Given the description of an element on the screen output the (x, y) to click on. 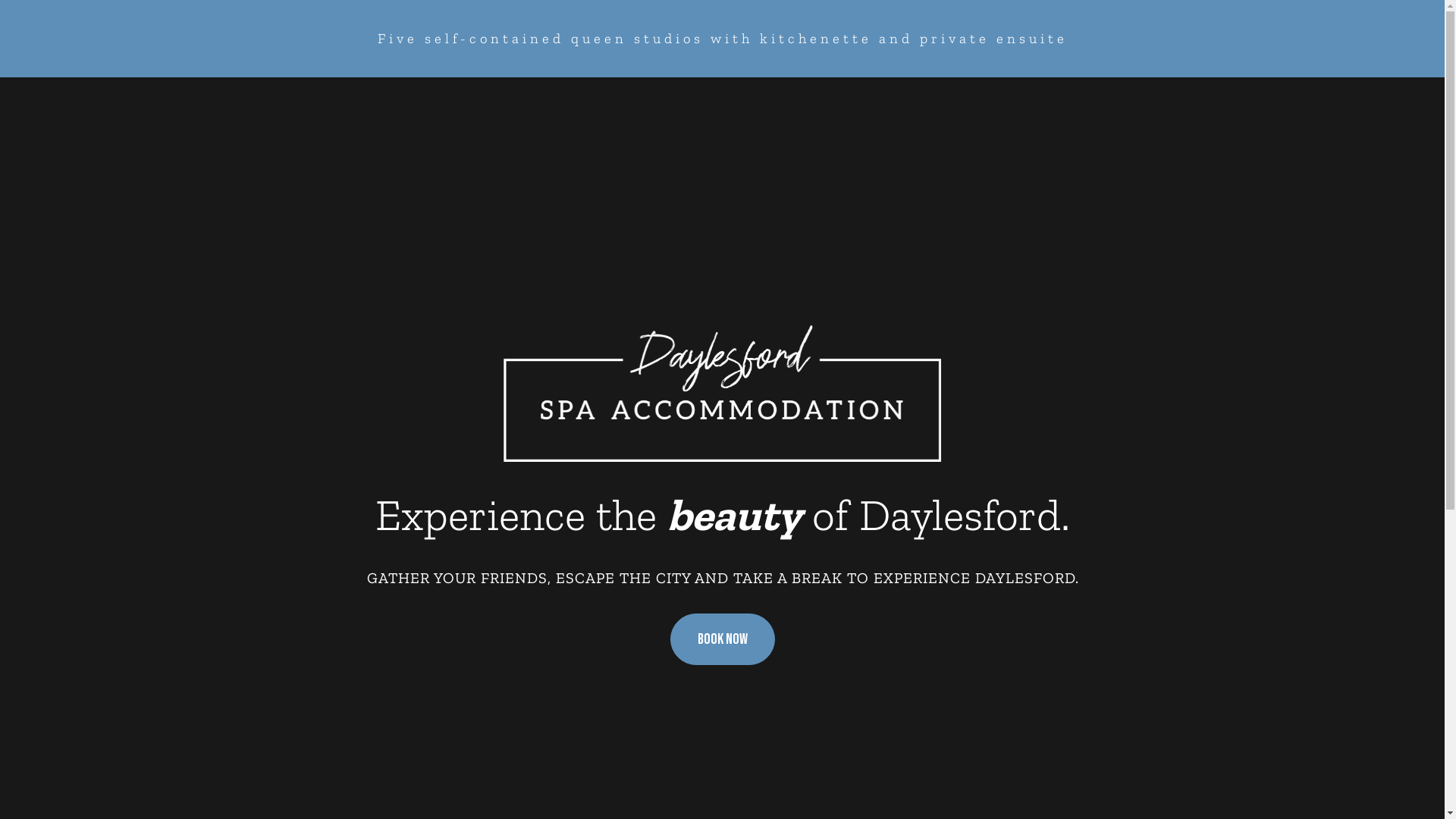
BOOK NOW Element type: text (722, 639)
